Given the description of an element on the screen output the (x, y) to click on. 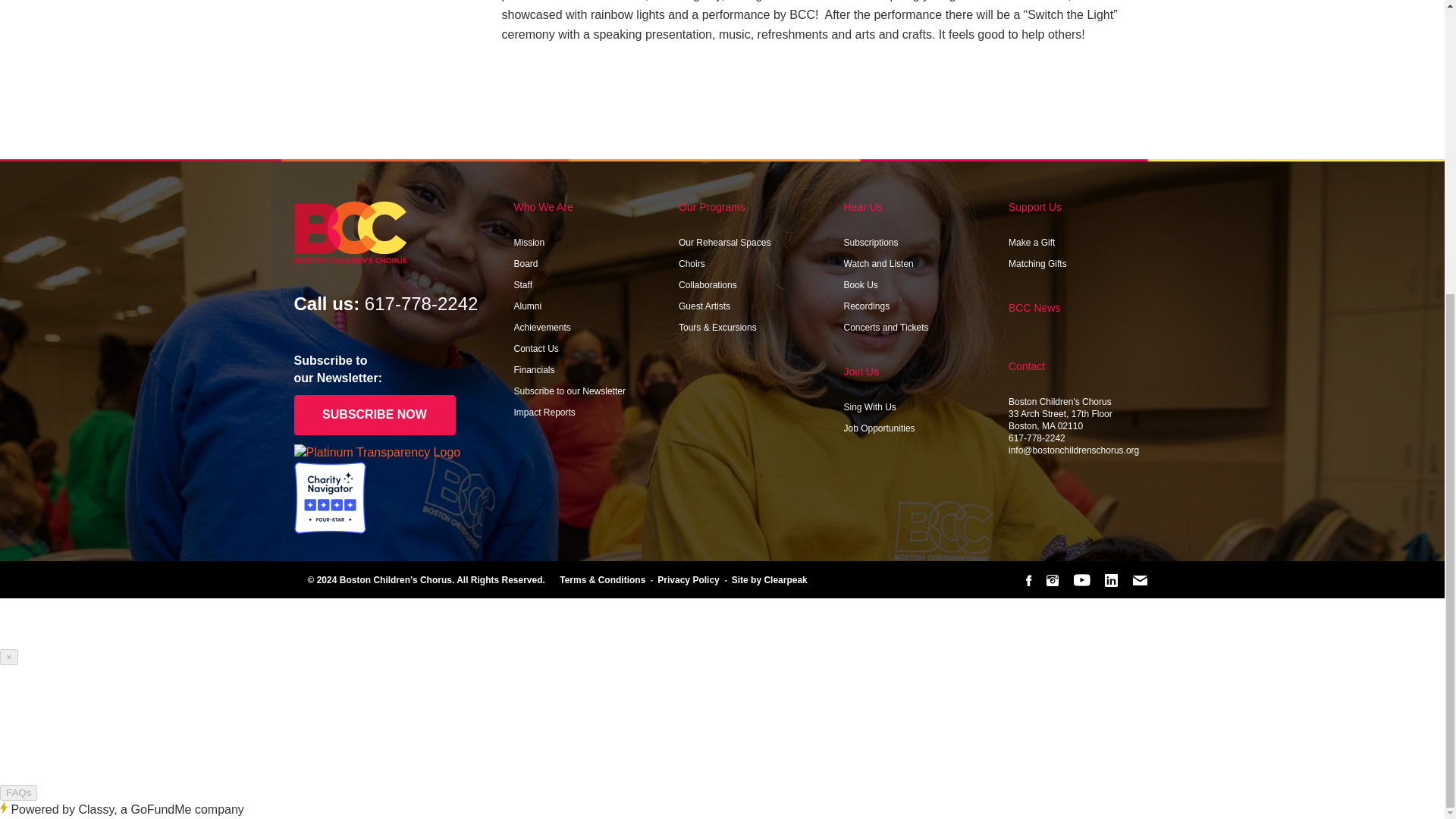
Instagram (1052, 580)
